Given the description of an element on the screen output the (x, y) to click on. 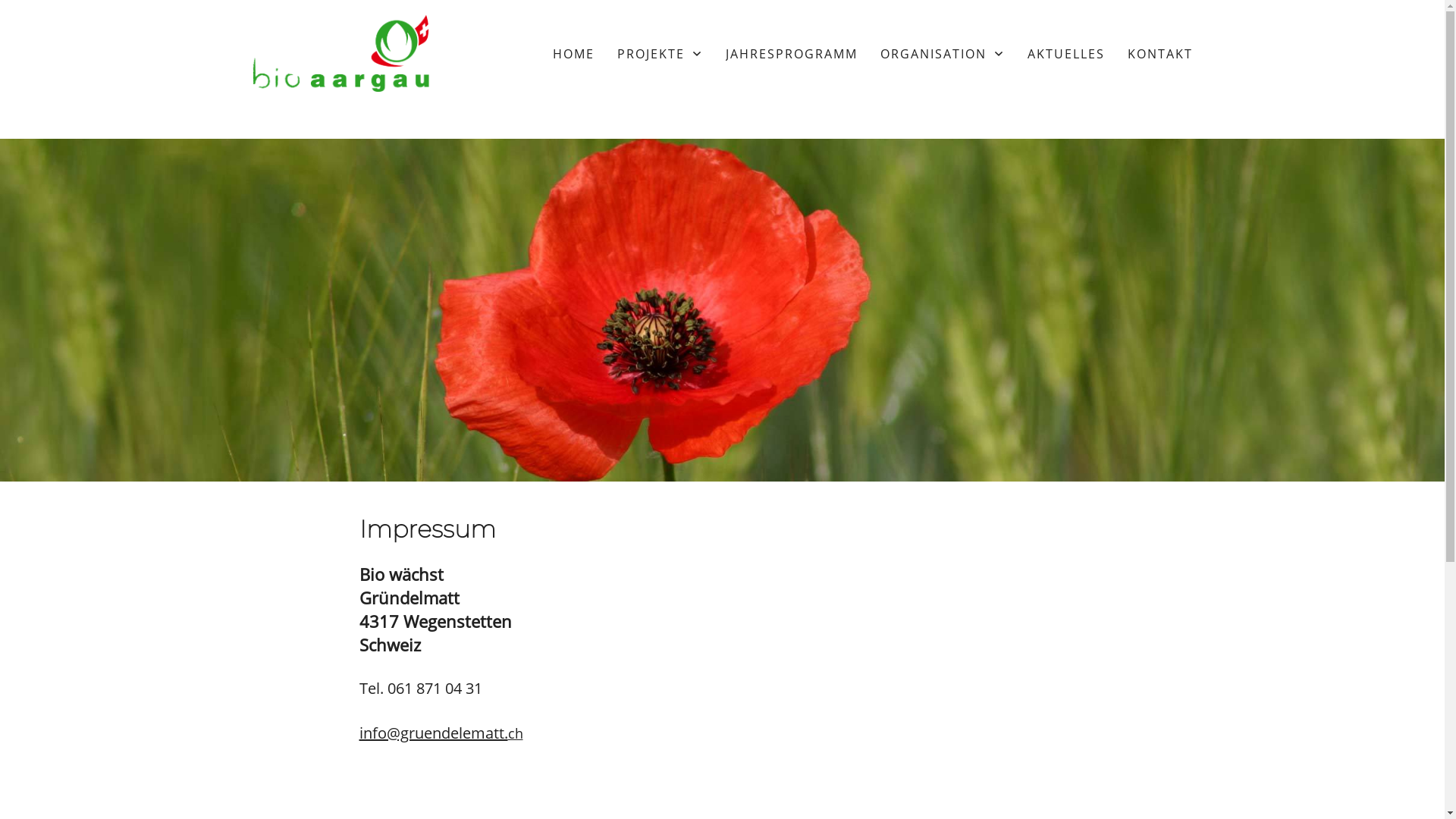
AKTUELLES Element type: text (1065, 53)
HOME Element type: text (572, 53)
info@gruendelematt.ch Element type: text (441, 733)
PROJEKTE Element type: text (659, 53)
JAHRESPROGRAMM Element type: text (790, 53)
KONTAKT Element type: text (1159, 53)
ORGANISATION Element type: text (941, 53)
